Given the description of an element on the screen output the (x, y) to click on. 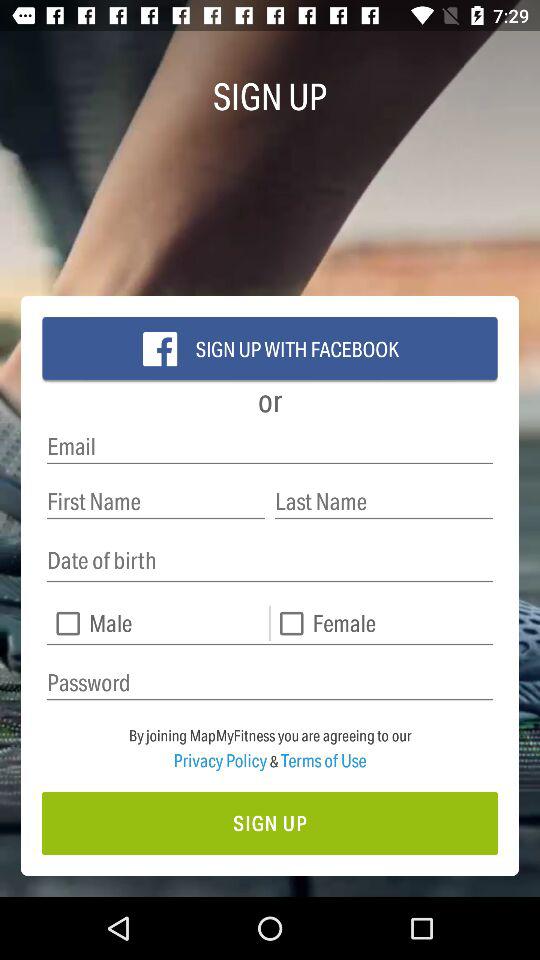
enter the date of birth (270, 560)
